Given the description of an element on the screen output the (x, y) to click on. 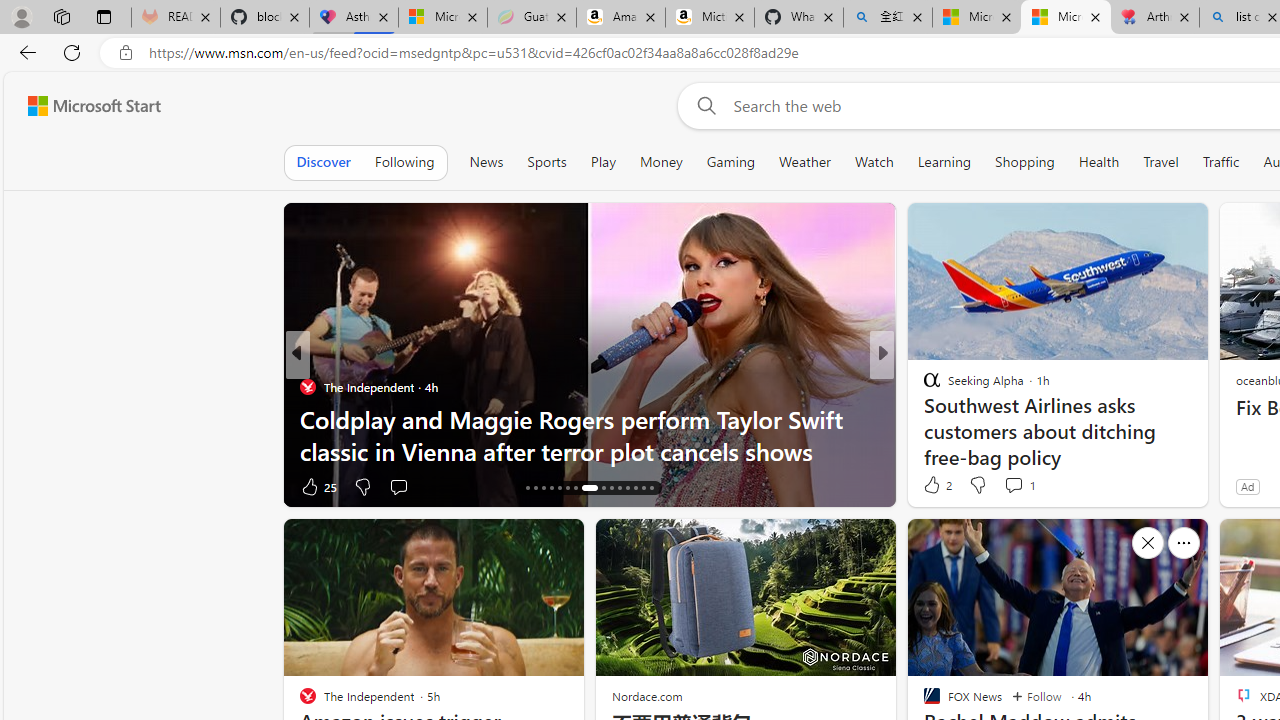
Discover (323, 162)
Dislike (976, 484)
View comments 3 Comment (1014, 485)
AutomationID: tab-18 (542, 487)
View comments 20 Comment (1019, 485)
Skip to content (86, 105)
Business Insider (923, 386)
See more (1183, 542)
Gaming (730, 162)
CNN (923, 386)
Watch (874, 161)
Weather (804, 162)
